Given the description of an element on the screen output the (x, y) to click on. 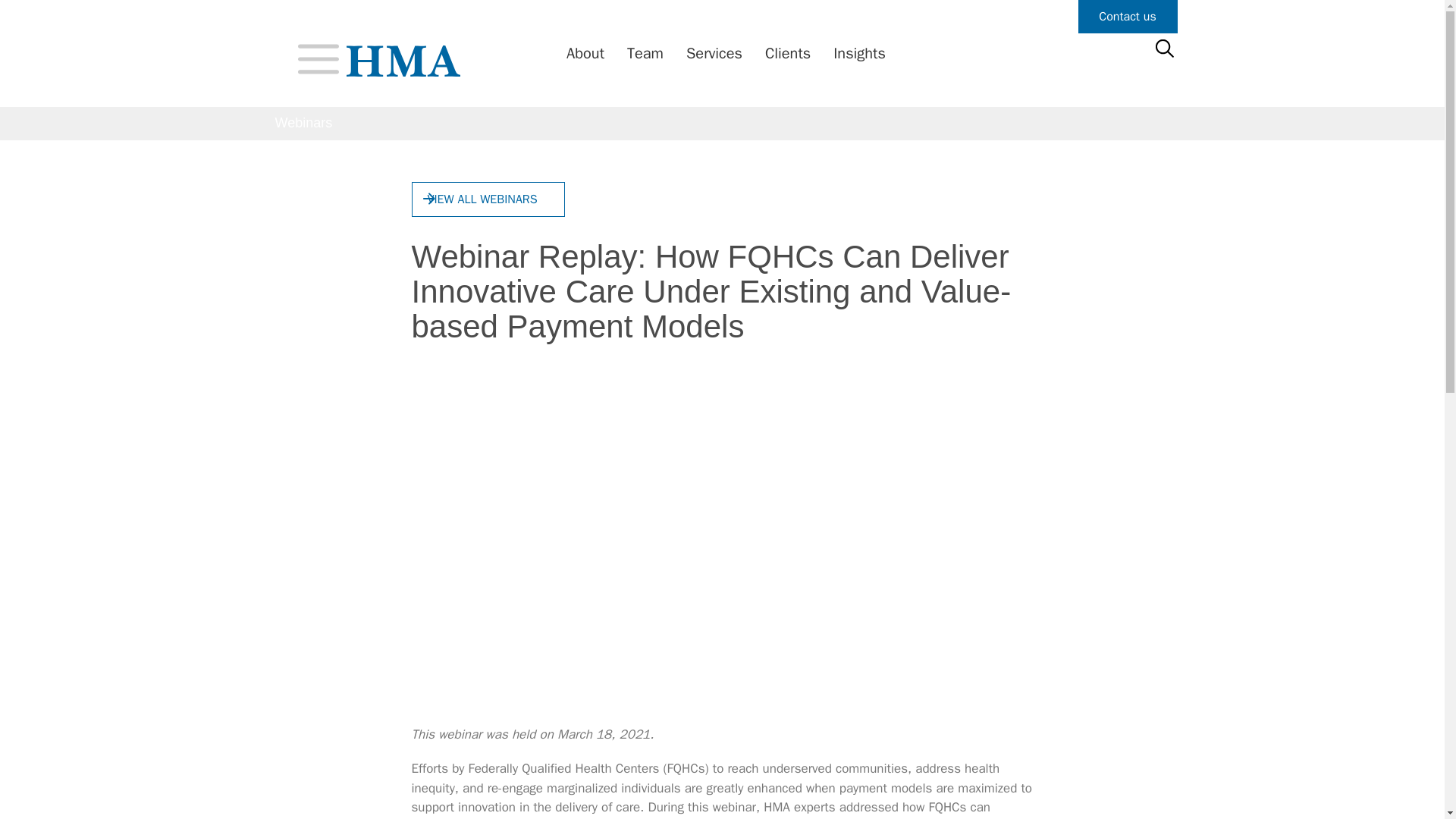
Search (35, 18)
About (581, 53)
Services (710, 53)
Menu (317, 58)
Search for: (1163, 48)
Contact us (1127, 16)
Team (641, 53)
